Given the description of an element on the screen output the (x, y) to click on. 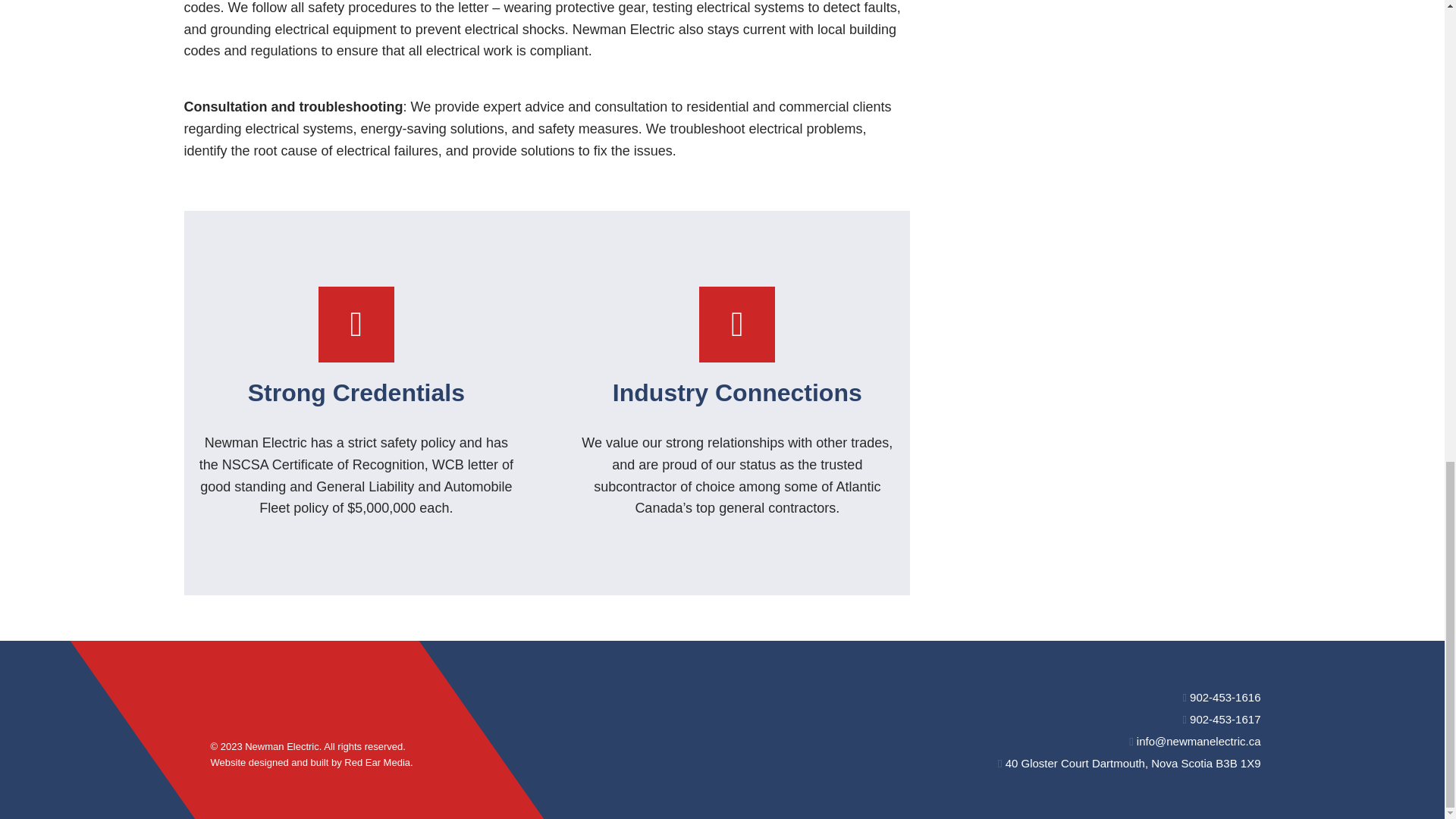
902-453-1616 (1221, 697)
Newman Electric (281, 746)
40 Gloster Court Dartmouth, Nova Scotia B3B 1X9 (1128, 762)
Website designed and built by Red Ear Media. (312, 762)
902-453-1617 (1221, 718)
